Given the description of an element on the screen output the (x, y) to click on. 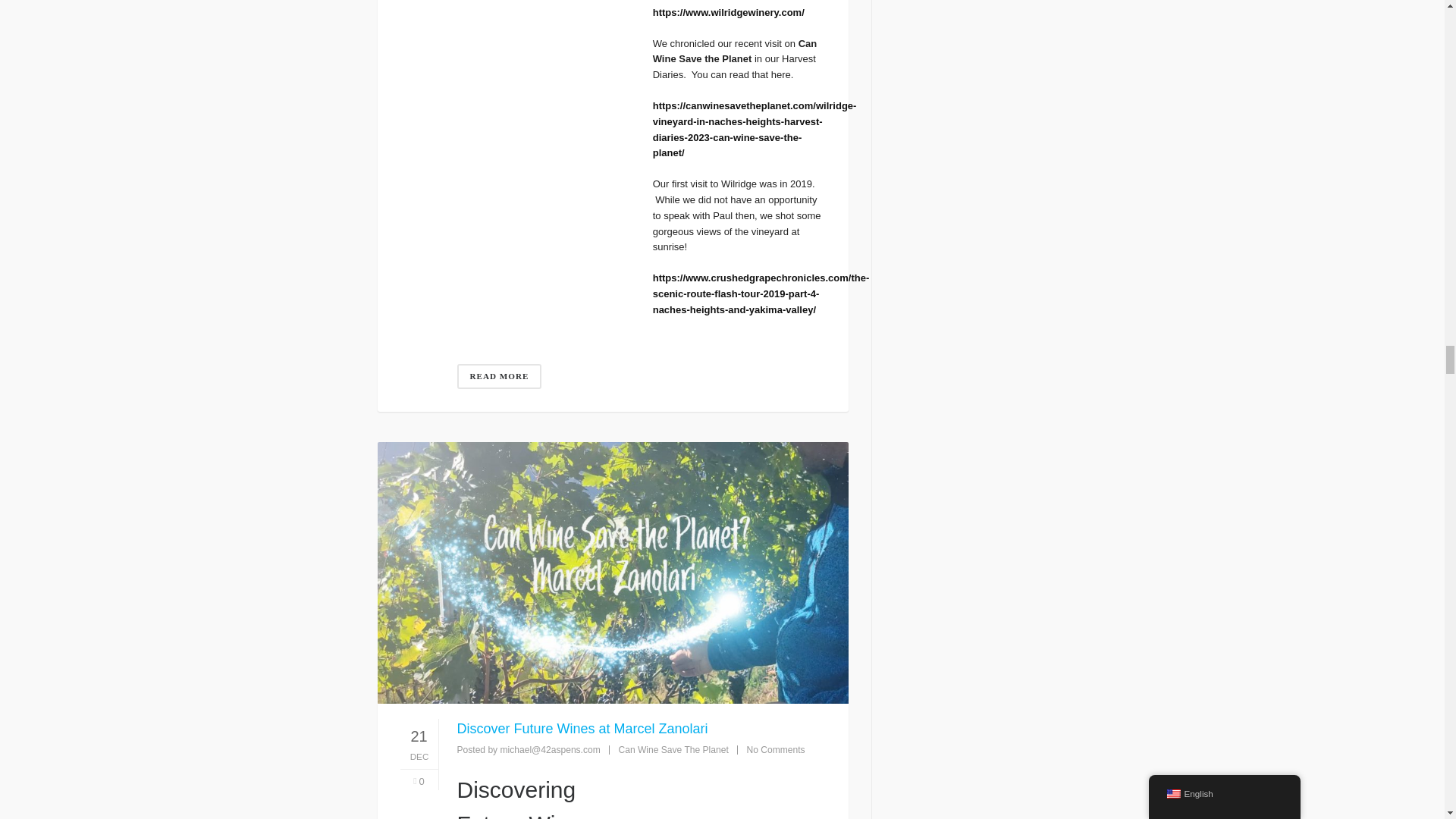
No Comments (775, 749)
